Given the description of an element on the screen output the (x, y) to click on. 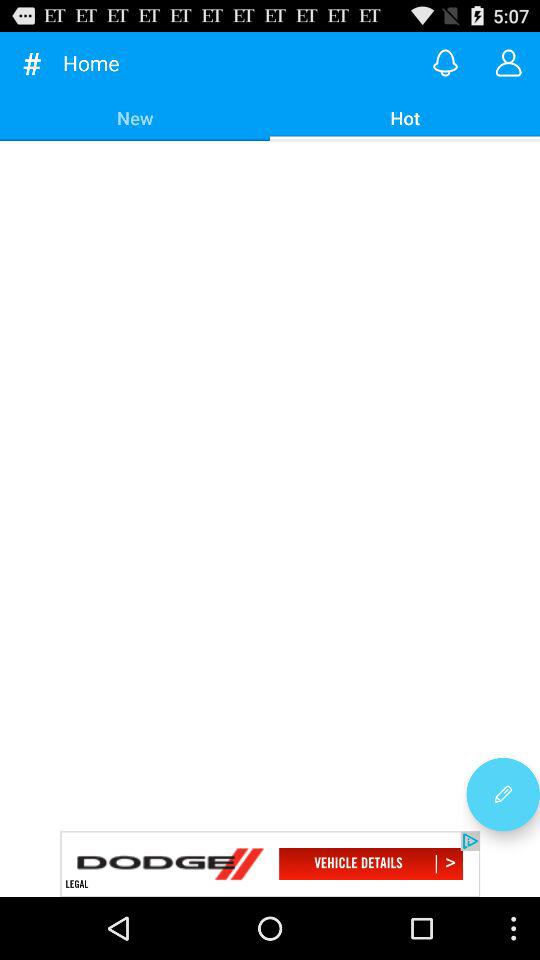
writting to be text using pencil (503, 794)
